Given the description of an element on the screen output the (x, y) to click on. 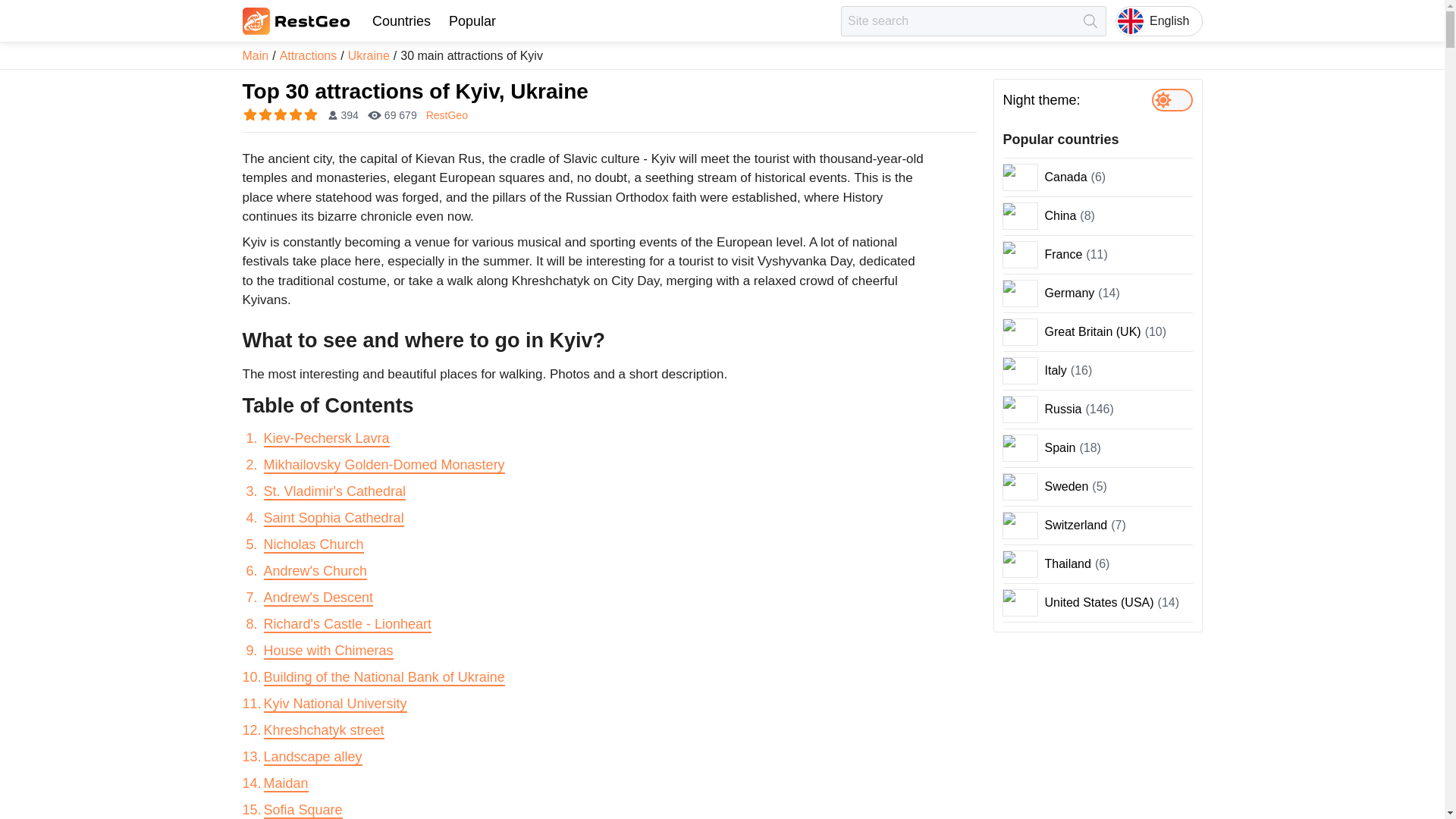
RestGeo (446, 114)
Saint Sophia Cathedral (333, 518)
Ukraine (368, 55)
Mikhailovsky Golden-Domed Monastery (384, 465)
Main (256, 55)
Countries (400, 21)
Building of the National Bank of Ukraine (384, 677)
Nicholas Church (313, 545)
Andrew's Descent (318, 597)
Richard's Castle - Lionheart (347, 624)
Kiev-Pechersk Lavra (326, 438)
Kyiv National University (335, 704)
30 main attractions of Kyiv (471, 55)
Richard (347, 624)
Andrew's Church (315, 571)
